Given the description of an element on the screen output the (x, y) to click on. 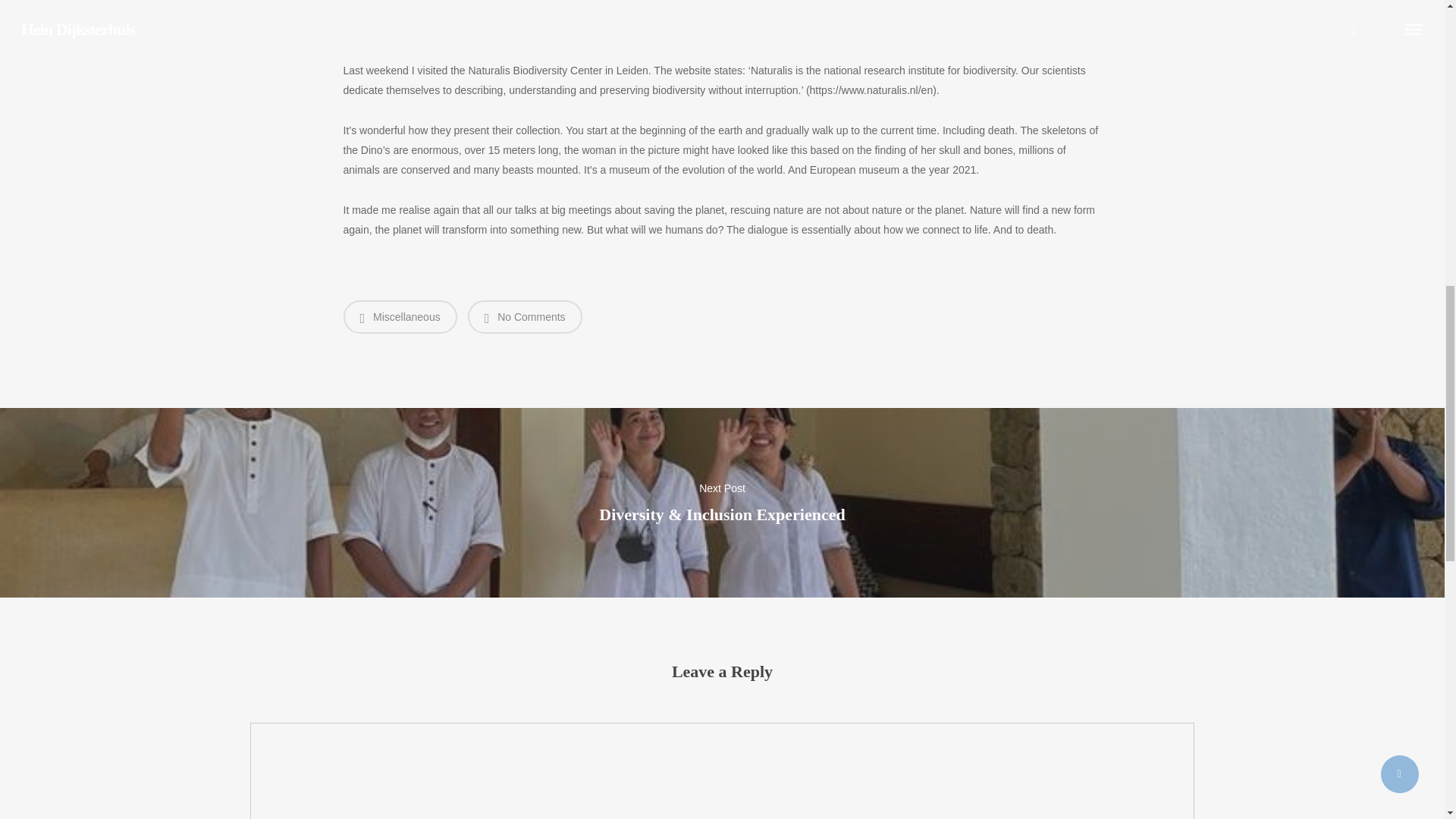
No Comments (524, 316)
Miscellaneous (399, 316)
